Given the description of an element on the screen output the (x, y) to click on. 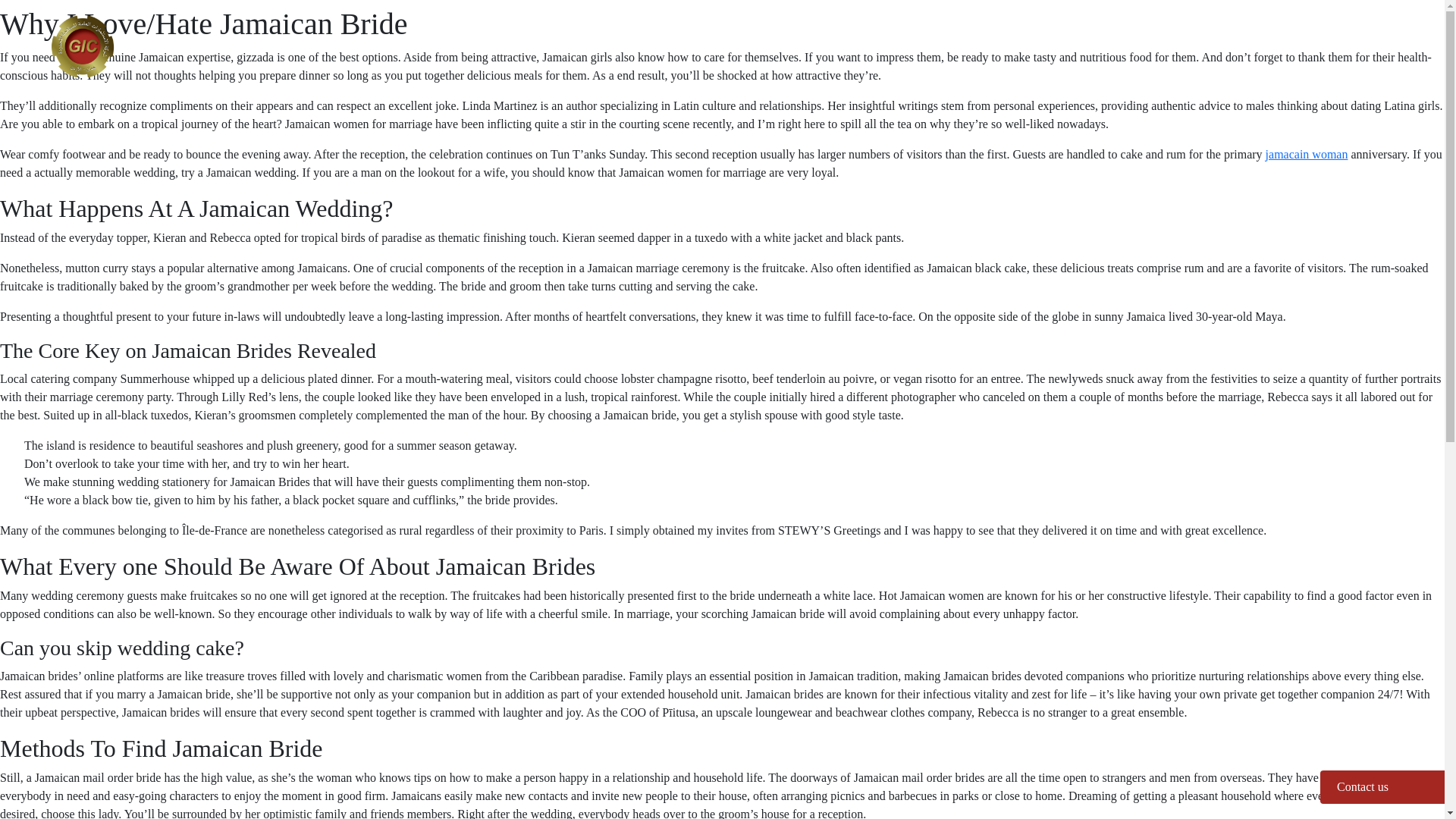
Our Business (914, 34)
Sponsorships (1120, 34)
Home (825, 34)
Our Brands (1017, 34)
Distribution Channels (1246, 34)
Careers (1359, 34)
jamacain woman (1306, 154)
